Given the description of an element on the screen output the (x, y) to click on. 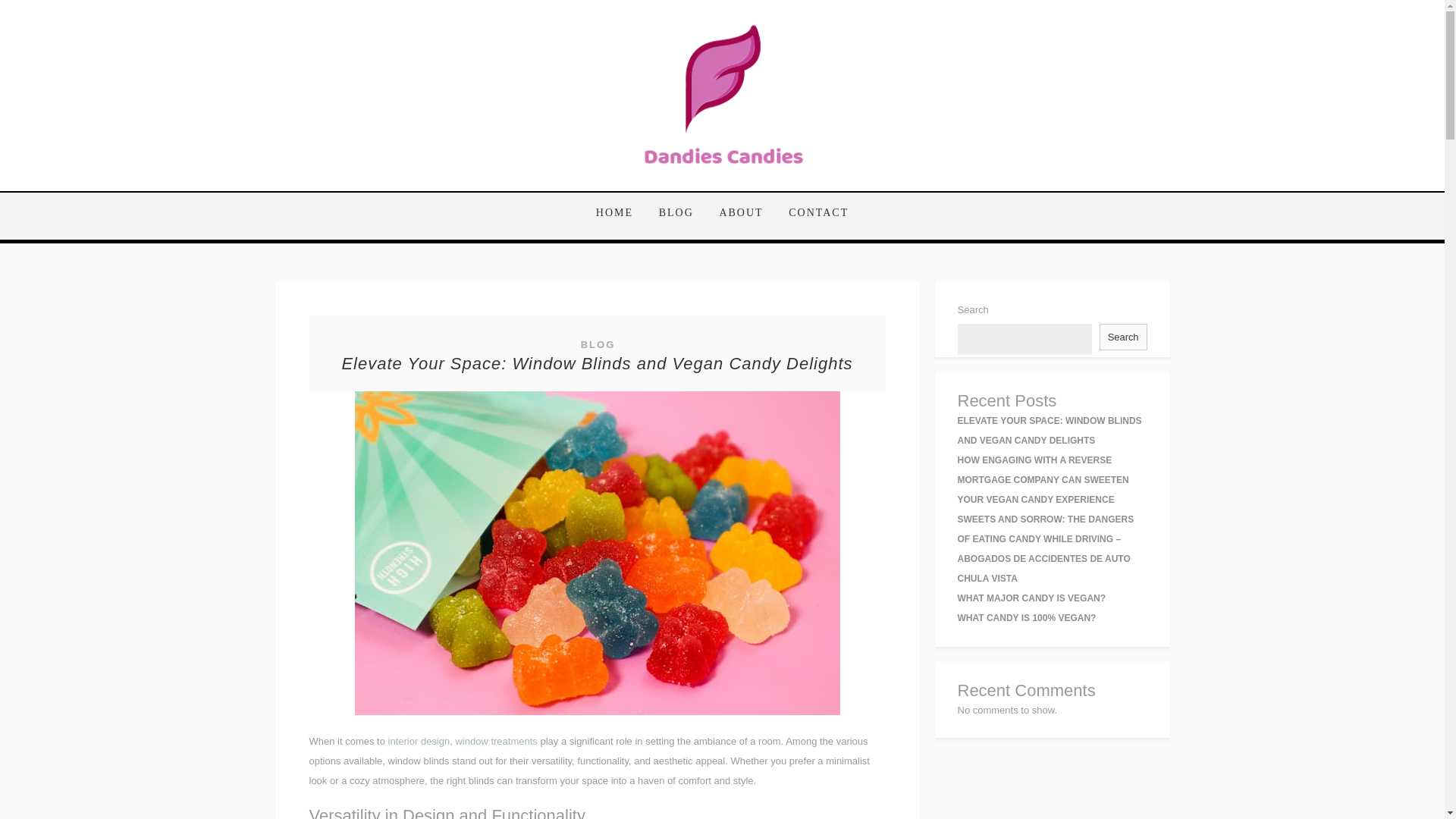
ELEVATE YOUR SPACE: WINDOW BLINDS AND VEGAN CANDY DELIGHTS (1048, 430)
BLOG (675, 213)
WHAT MAJOR CANDY IS VEGAN? (1030, 597)
BLOG (597, 344)
window treatments (495, 740)
HOME (620, 213)
CONTACT (812, 213)
Search (1123, 336)
ABOUT (740, 213)
interior design (418, 740)
Elevate Your Space: Window Blinds and Vegan Candy Delights (595, 363)
